Given the description of an element on the screen output the (x, y) to click on. 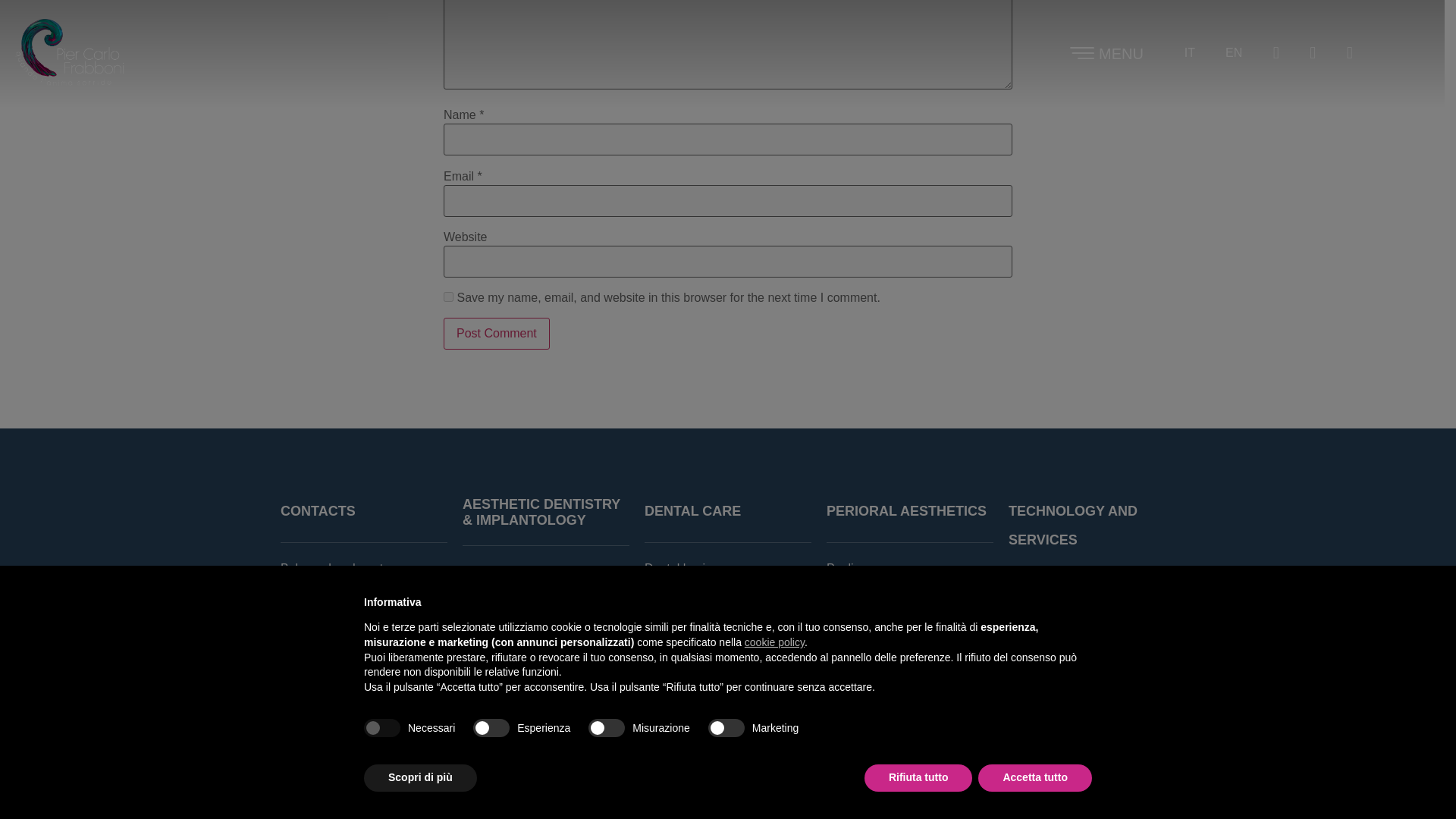
Post Comment (497, 333)
